Given the description of an element on the screen output the (x, y) to click on. 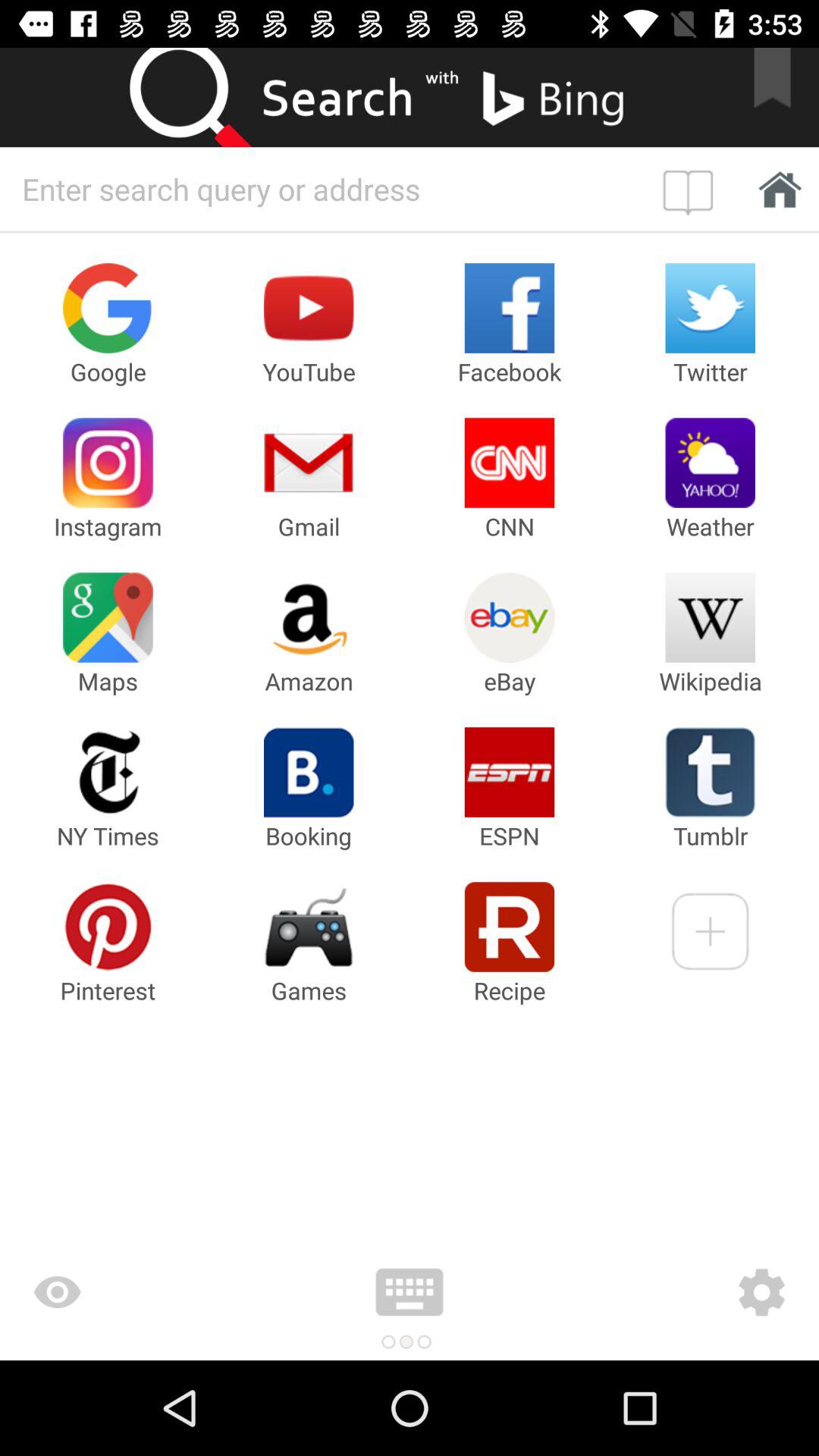
open keyboard (409, 1292)
